Given the description of an element on the screen output the (x, y) to click on. 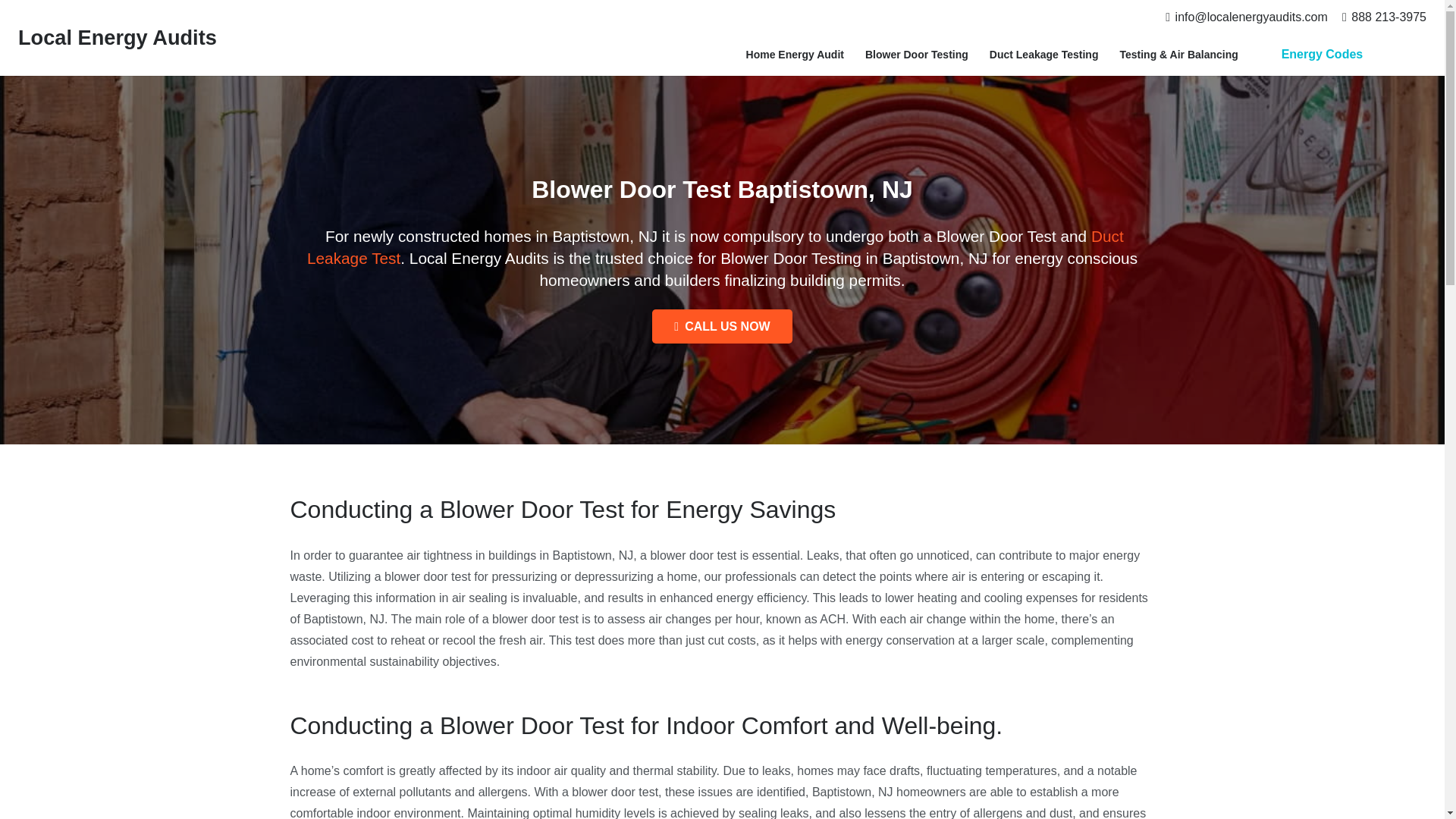
CALL US NOW (722, 326)
Blower Door Testing (916, 54)
Local Energy Audits (116, 37)
888 213-3975 (1384, 16)
Home Energy Audit (794, 54)
Energy Codes (1321, 54)
Duct Leakage Testing (1043, 54)
Duct Leakage Test (715, 246)
